Given the description of an element on the screen output the (x, y) to click on. 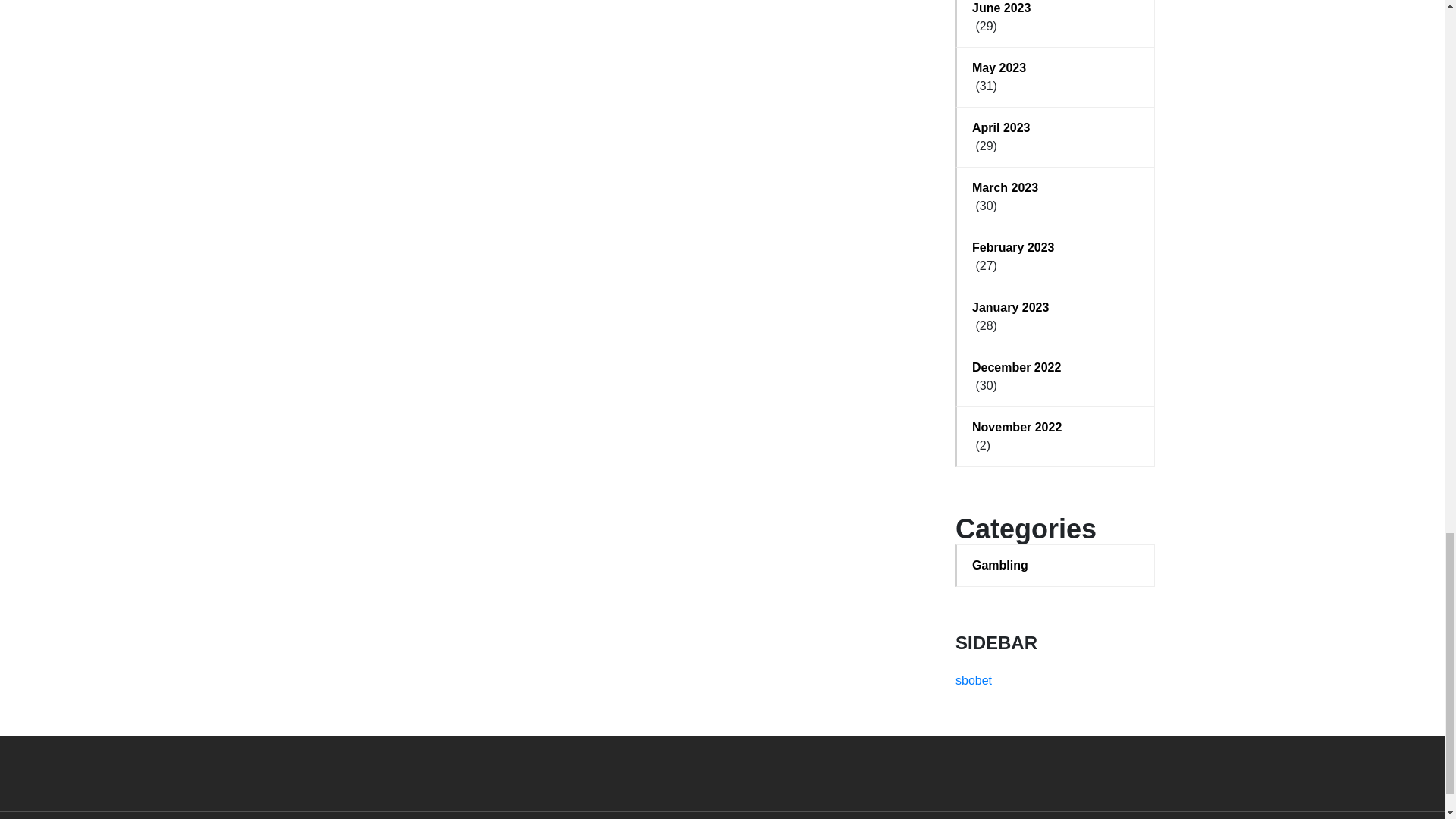
January 2023 (1055, 307)
November 2022 (1055, 427)
Gambling (1055, 565)
May 2023 (1055, 67)
sbobet (973, 680)
June 2023 (1055, 8)
March 2023 (1055, 188)
February 2023 (1055, 248)
December 2022 (1055, 367)
April 2023 (1055, 127)
